Given the description of an element on the screen output the (x, y) to click on. 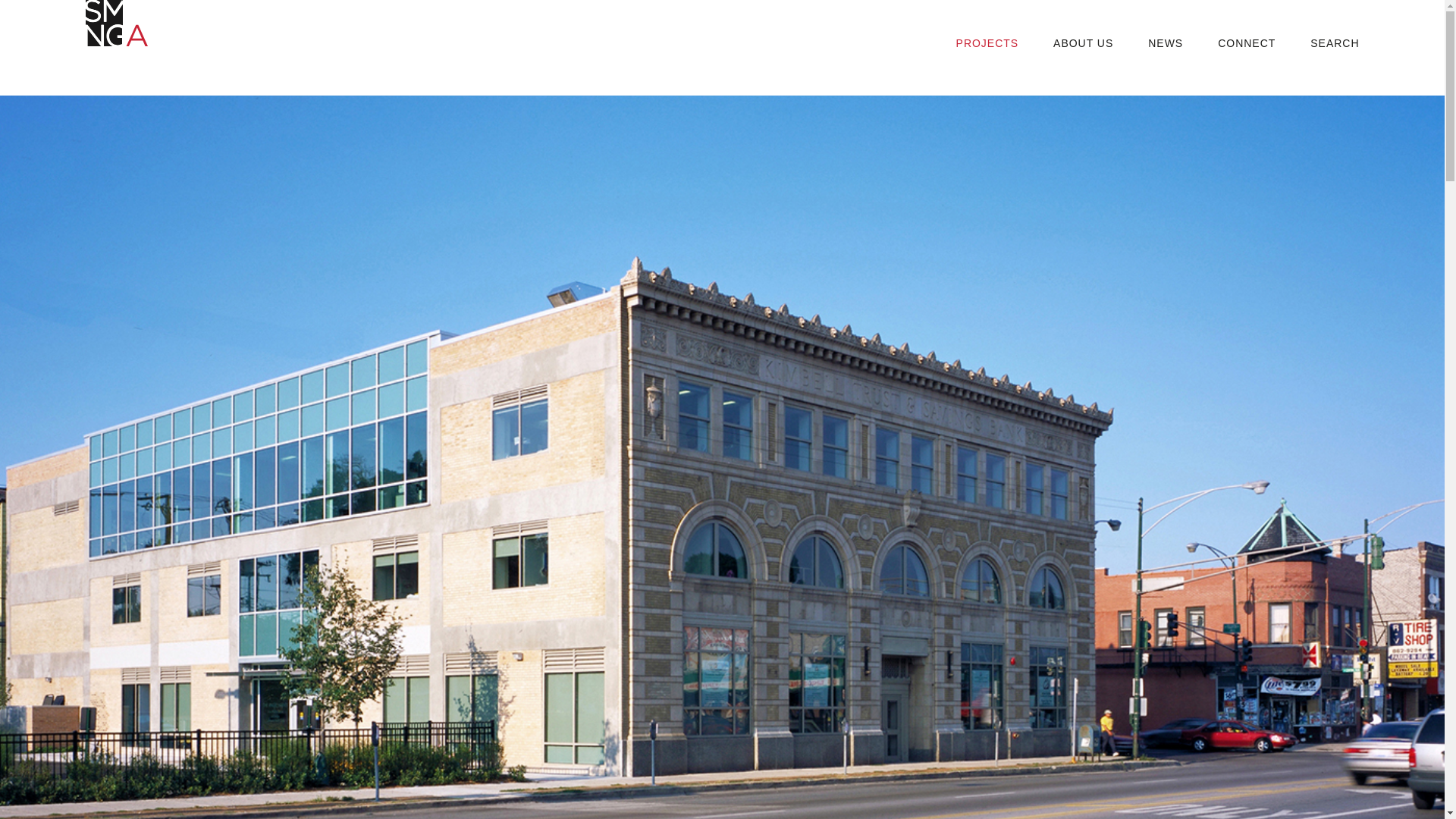
ABOUT US (1082, 42)
NEWS (1165, 42)
SEARCH (1334, 42)
CONNECT (1246, 42)
PROJECTS (987, 42)
